Given the description of an element on the screen output the (x, y) to click on. 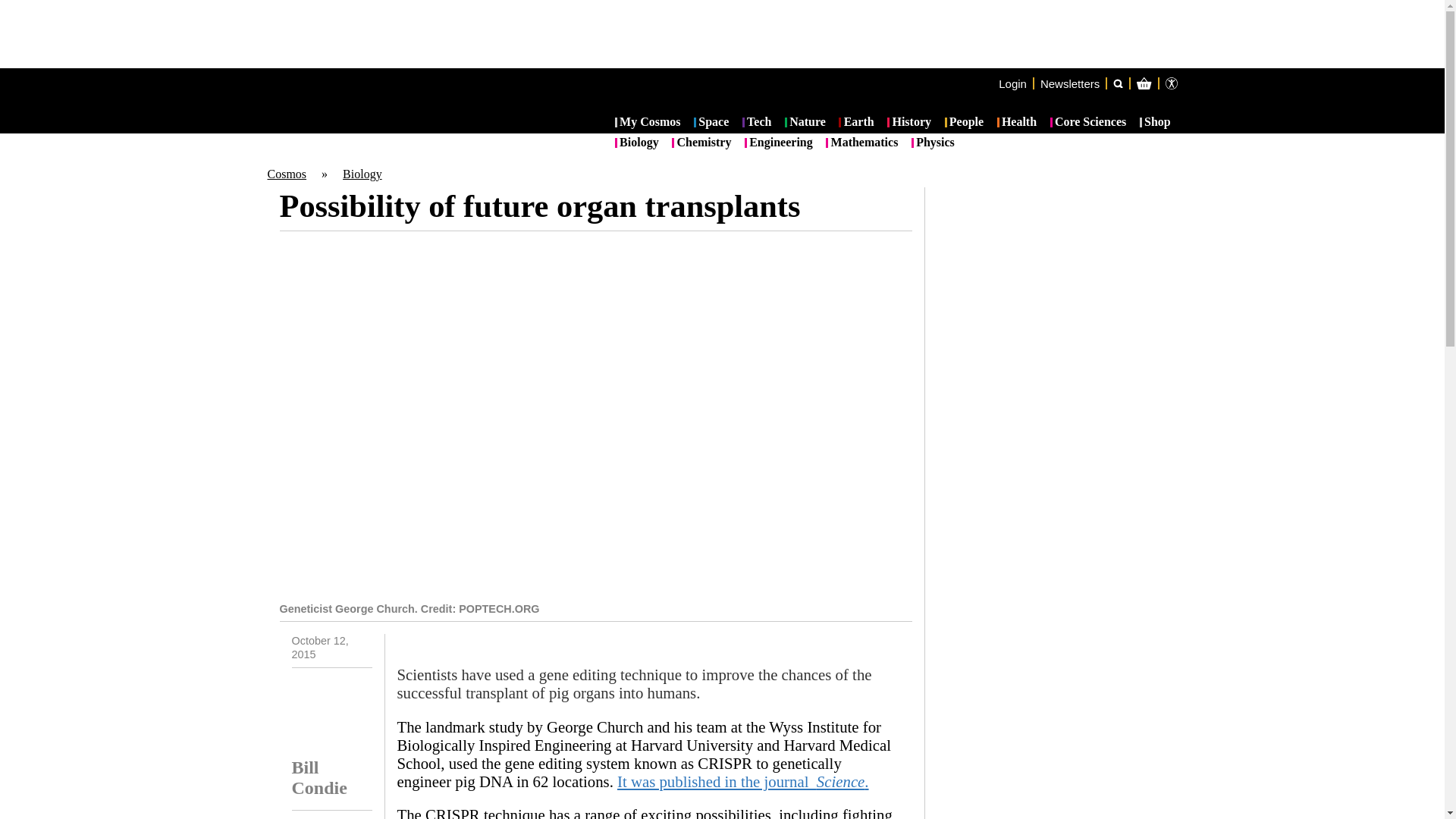
Shop (1155, 122)
Health (1016, 122)
Space (711, 122)
Earth (855, 122)
Login (1012, 82)
Tech (756, 122)
Newsletters (1070, 82)
People (964, 122)
Mathematics (861, 143)
My Cosmos (647, 122)
